Given the description of an element on the screen output the (x, y) to click on. 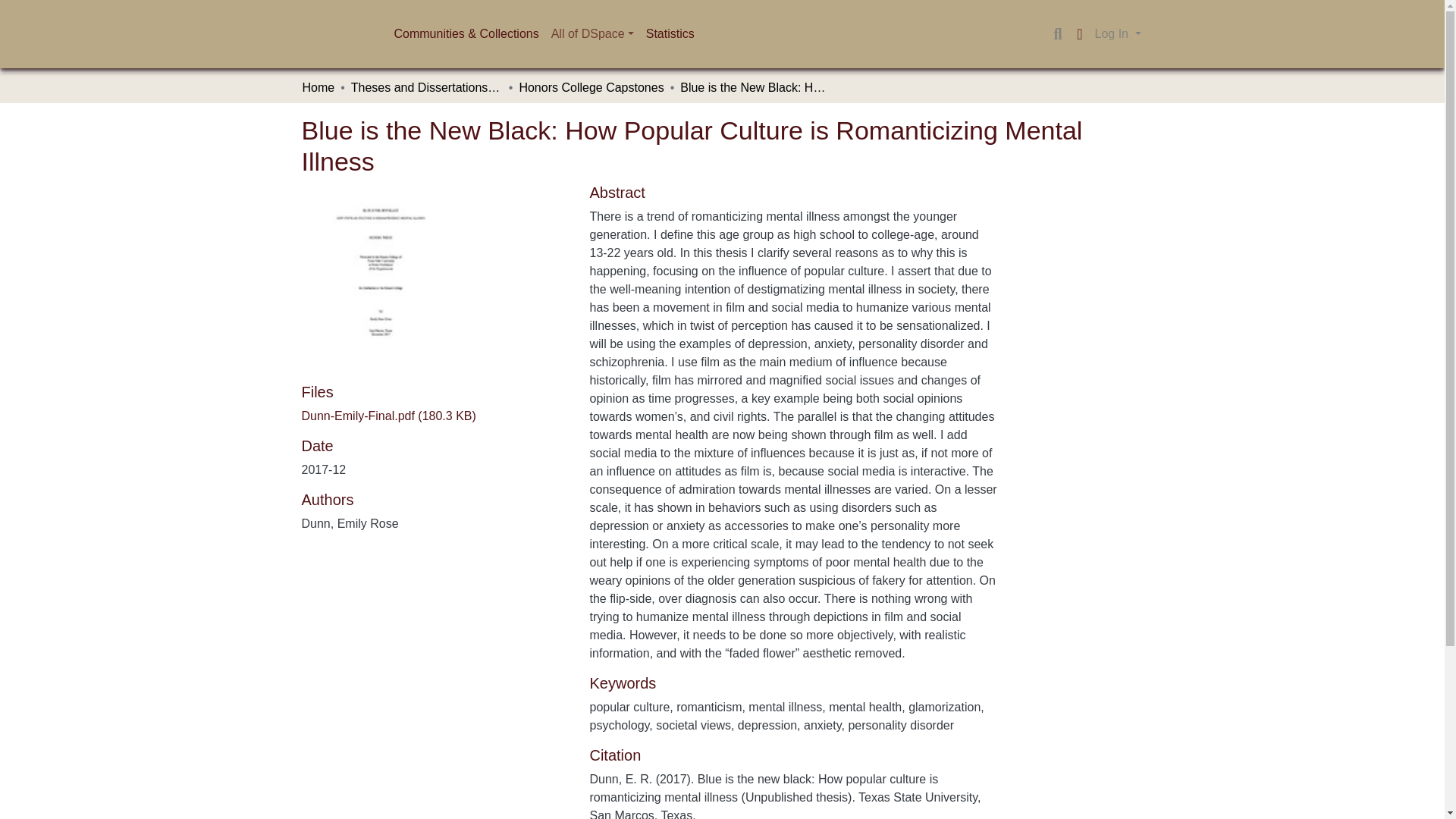
Search (1057, 34)
Language switch (1079, 34)
Home (317, 87)
Theses and Dissertations, Capstones, and Directed Research (426, 87)
Log In (1117, 33)
All of DSpace (592, 33)
Statistics (670, 33)
Statistics (670, 33)
Honors College Capstones (590, 87)
